Given the description of an element on the screen output the (x, y) to click on. 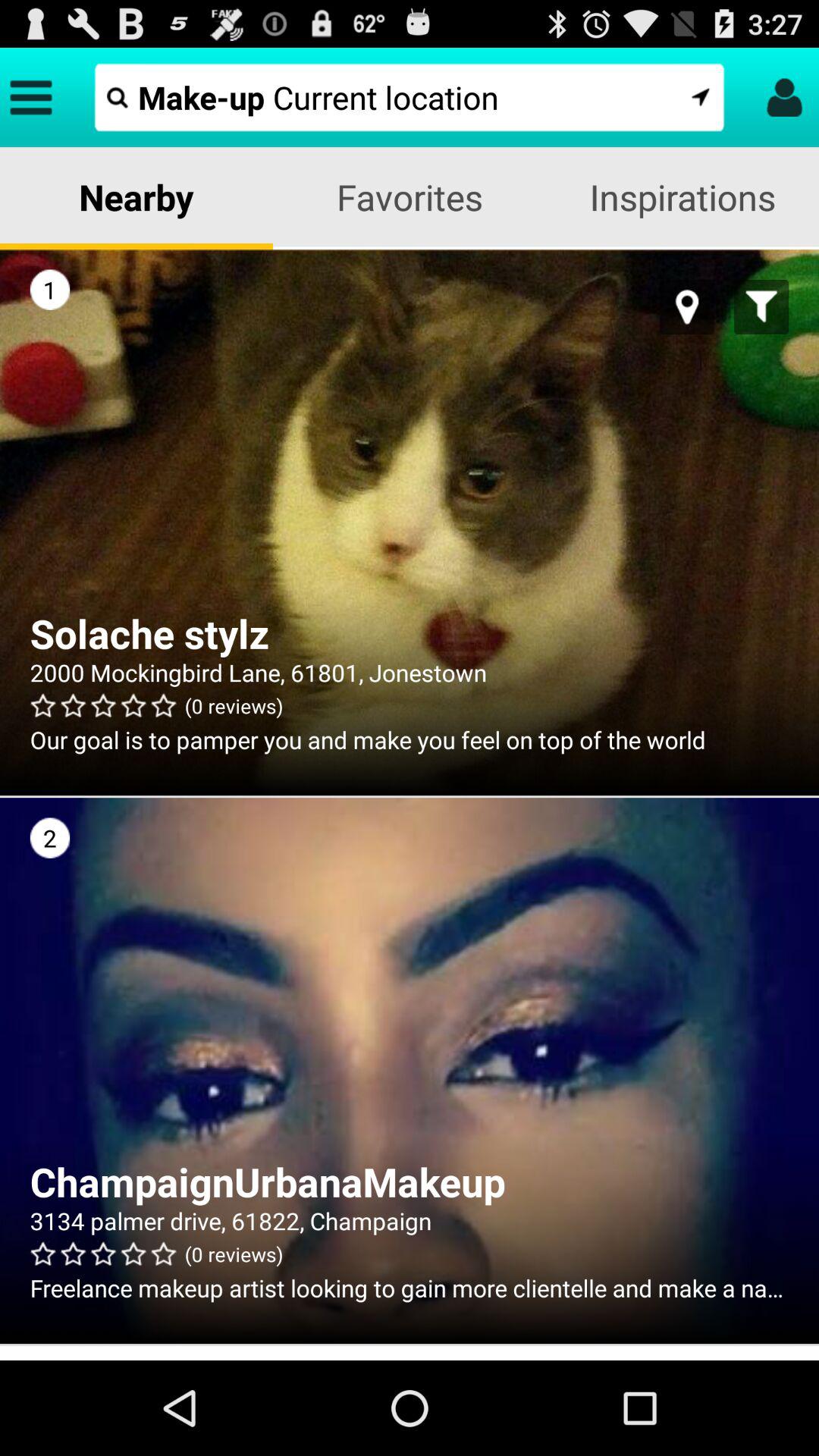
jump until the champaignurbanamakeup item (409, 1181)
